Given the description of an element on the screen output the (x, y) to click on. 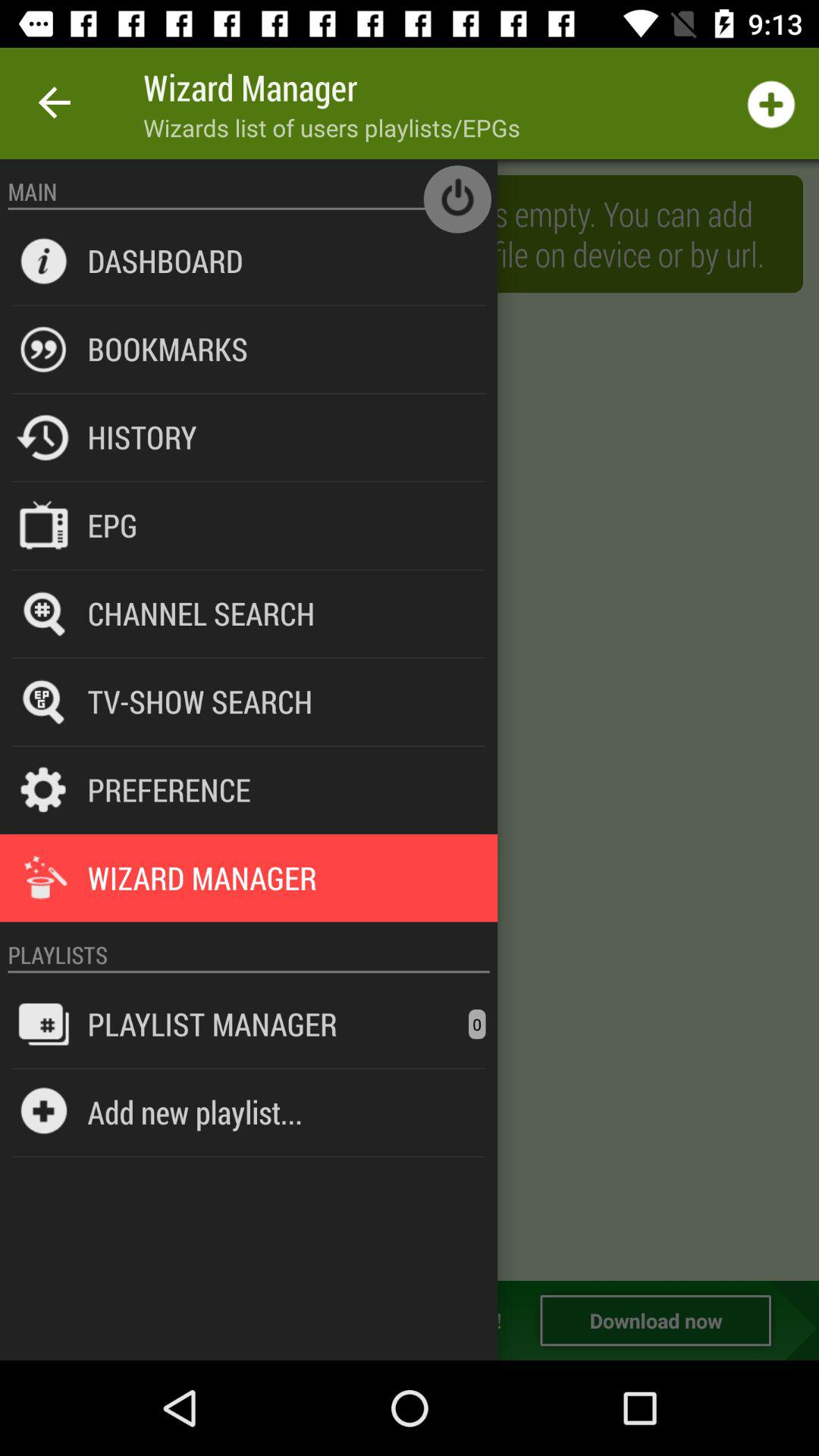
click on download now (655, 1320)
choose the icon beside the channel search (44, 612)
click on the icon which is to the left side of the preference (44, 790)
